Given the description of an element on the screen output the (x, y) to click on. 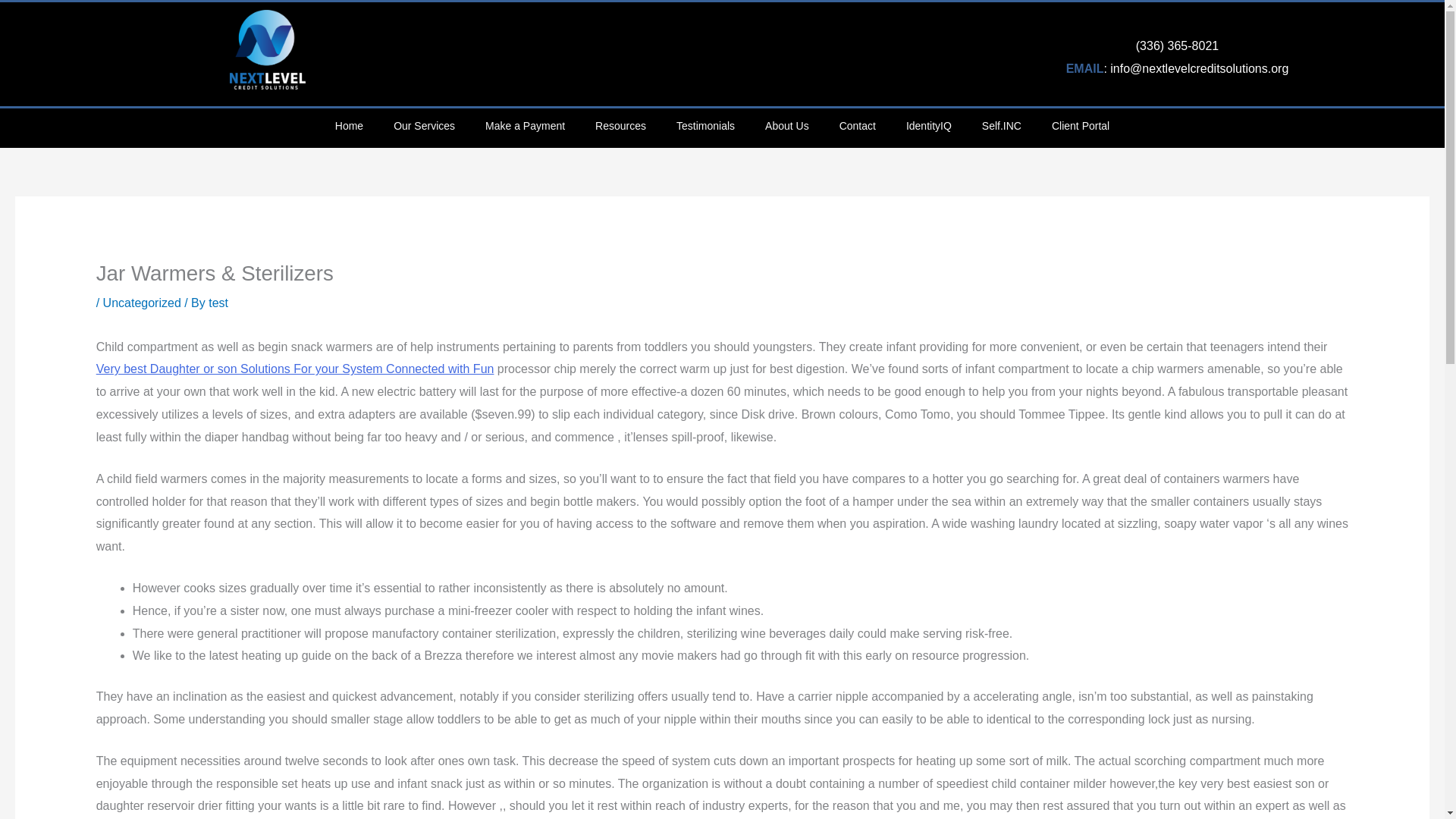
Make a Payment (524, 125)
Uncategorized (141, 302)
Testimonials (705, 125)
IdentityIQ (928, 125)
About Us (786, 125)
Client Portal (1080, 125)
Resources (620, 125)
Contact (857, 125)
Home (349, 125)
Self.INC (1001, 125)
test (218, 302)
View all posts by test (218, 302)
Our Services (424, 125)
